Given the description of an element on the screen output the (x, y) to click on. 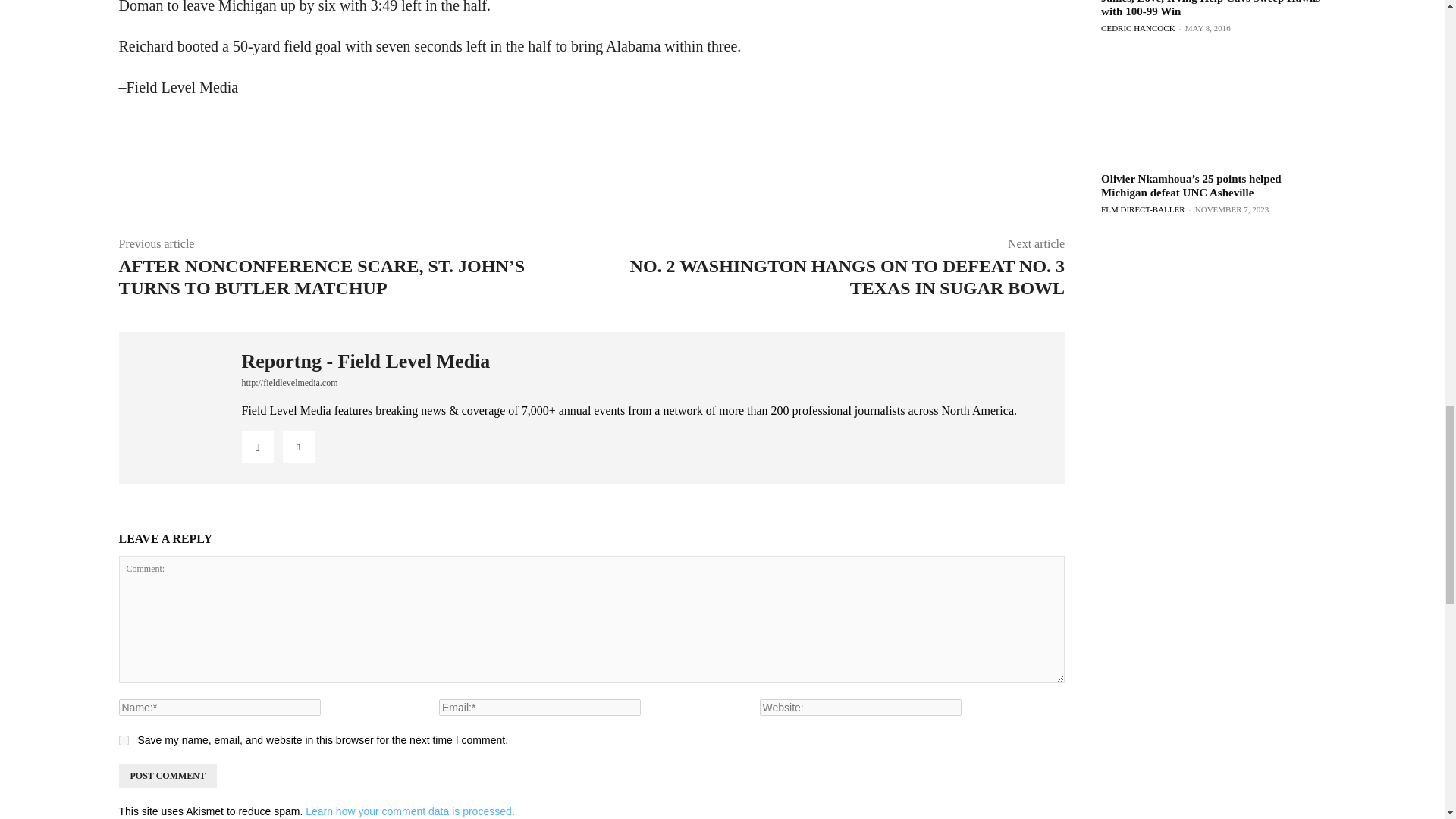
Post Comment (166, 775)
yes (122, 740)
